Given the description of an element on the screen output the (x, y) to click on. 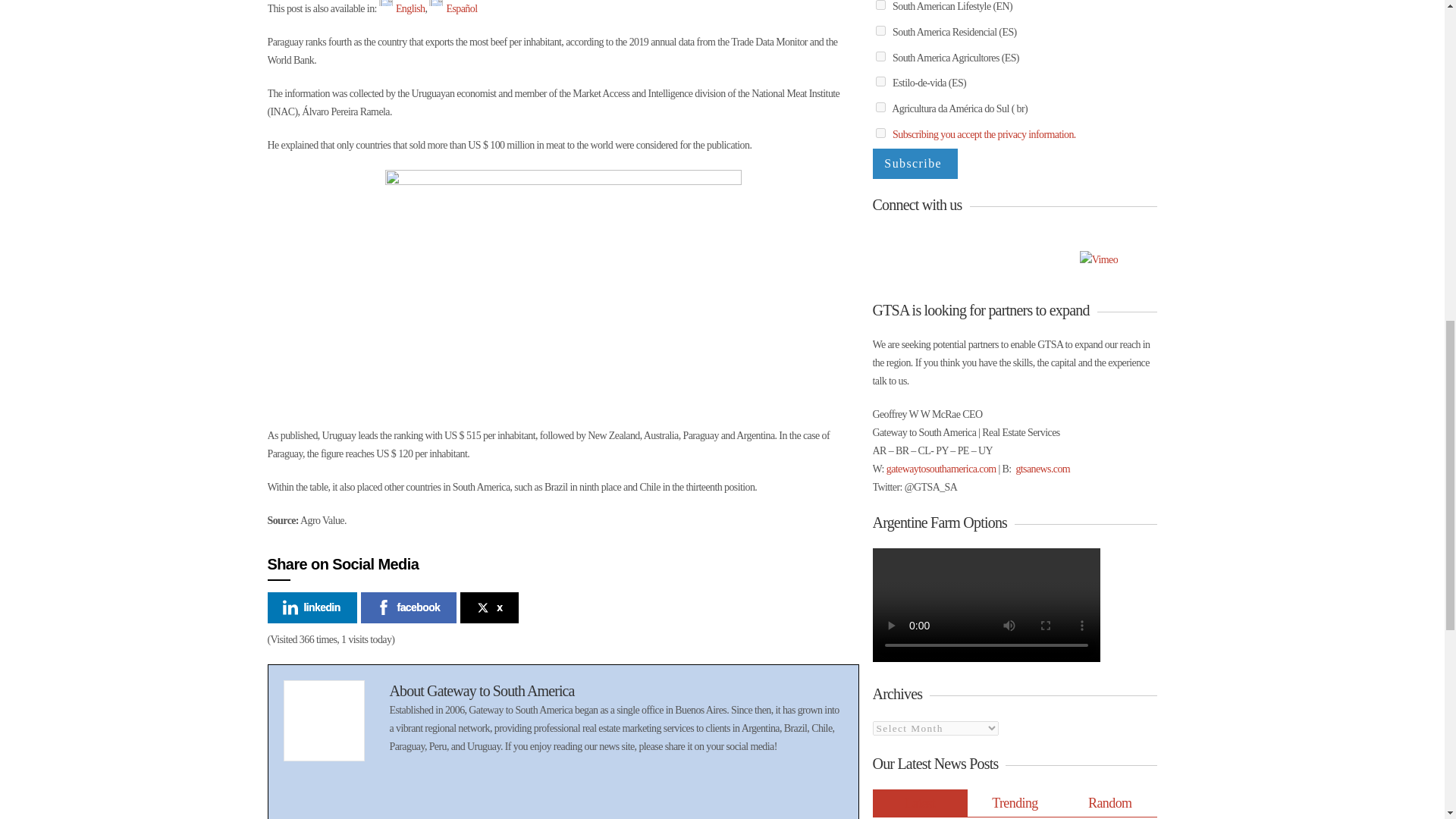
Gateway to South America (499, 690)
4 (880, 30)
5 (880, 56)
Gateway to South America On Instagram (584, 790)
Send Gateway to South America Mail (416, 790)
Gateway to South America On Vimeo (556, 790)
9 (880, 107)
Gateway to South America On LinkedIn (528, 790)
Gateway to South America On The Web (444, 790)
on (880, 132)
